Given the description of an element on the screen output the (x, y) to click on. 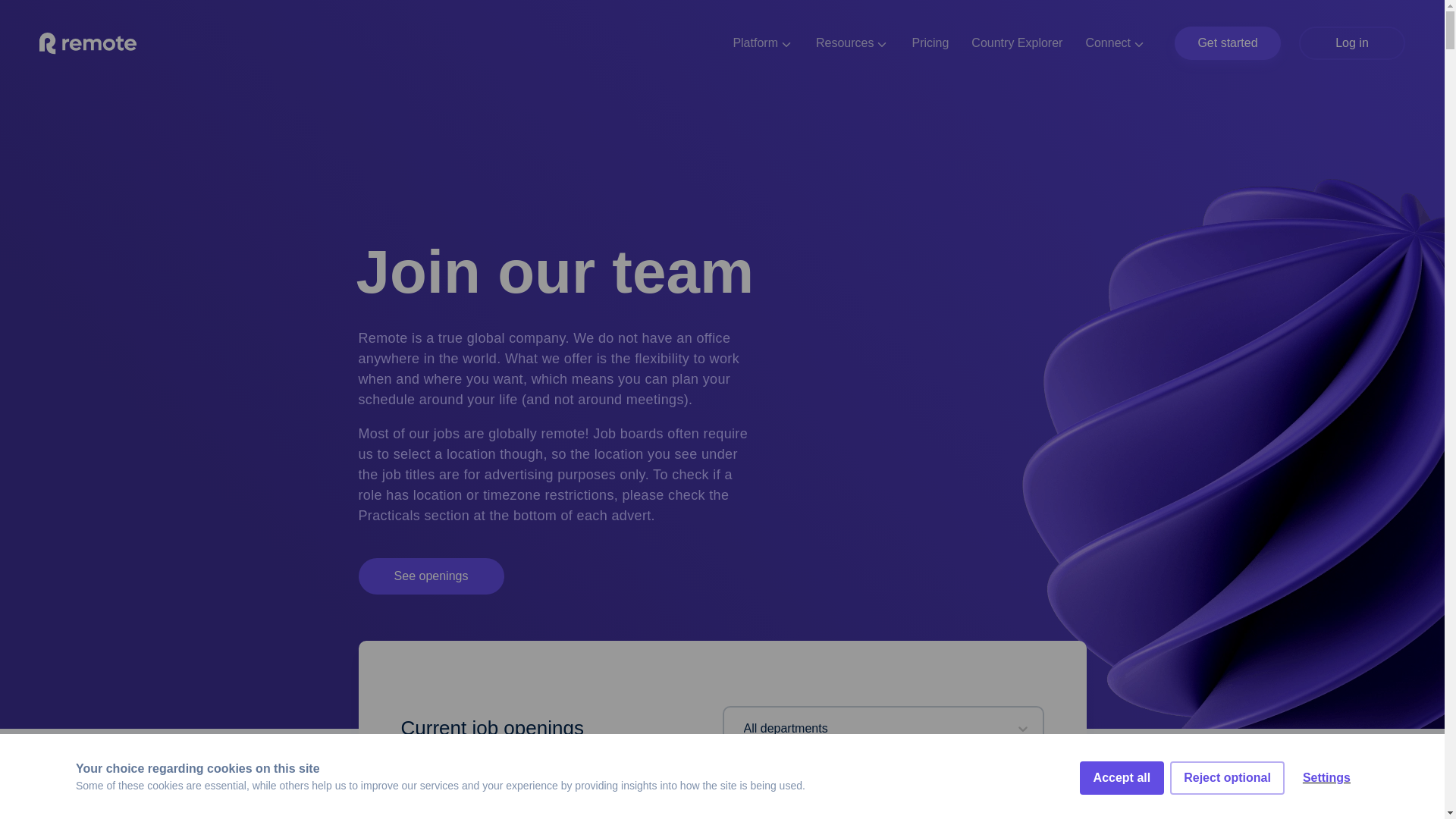
Platform (762, 42)
Settings (1326, 808)
Reject optional (1227, 815)
Connect (1114, 42)
Resources (851, 42)
Country Explorer (1016, 43)
